Given the description of an element on the screen output the (x, y) to click on. 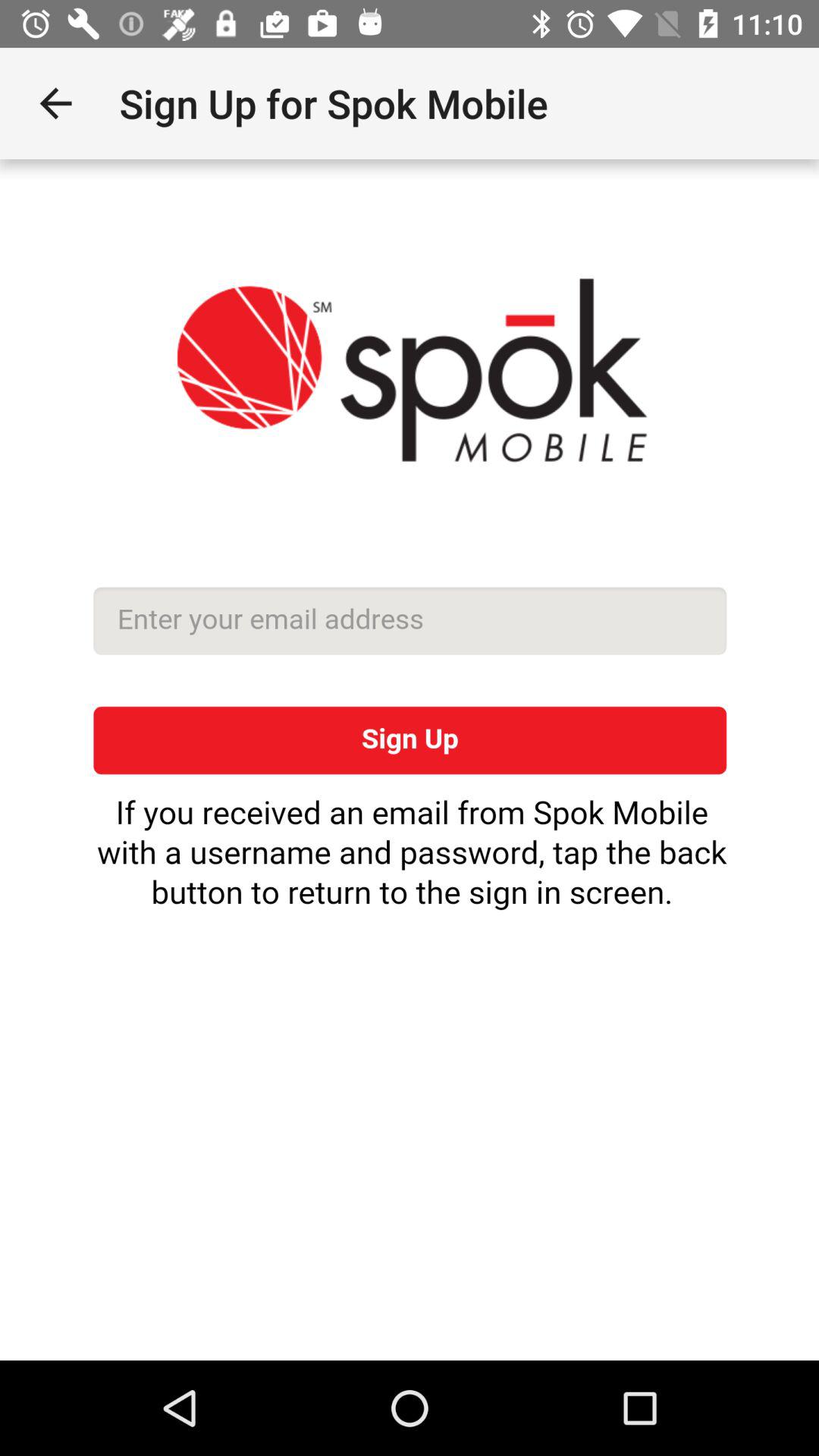
sigh up the page (409, 759)
